Given the description of an element on the screen output the (x, y) to click on. 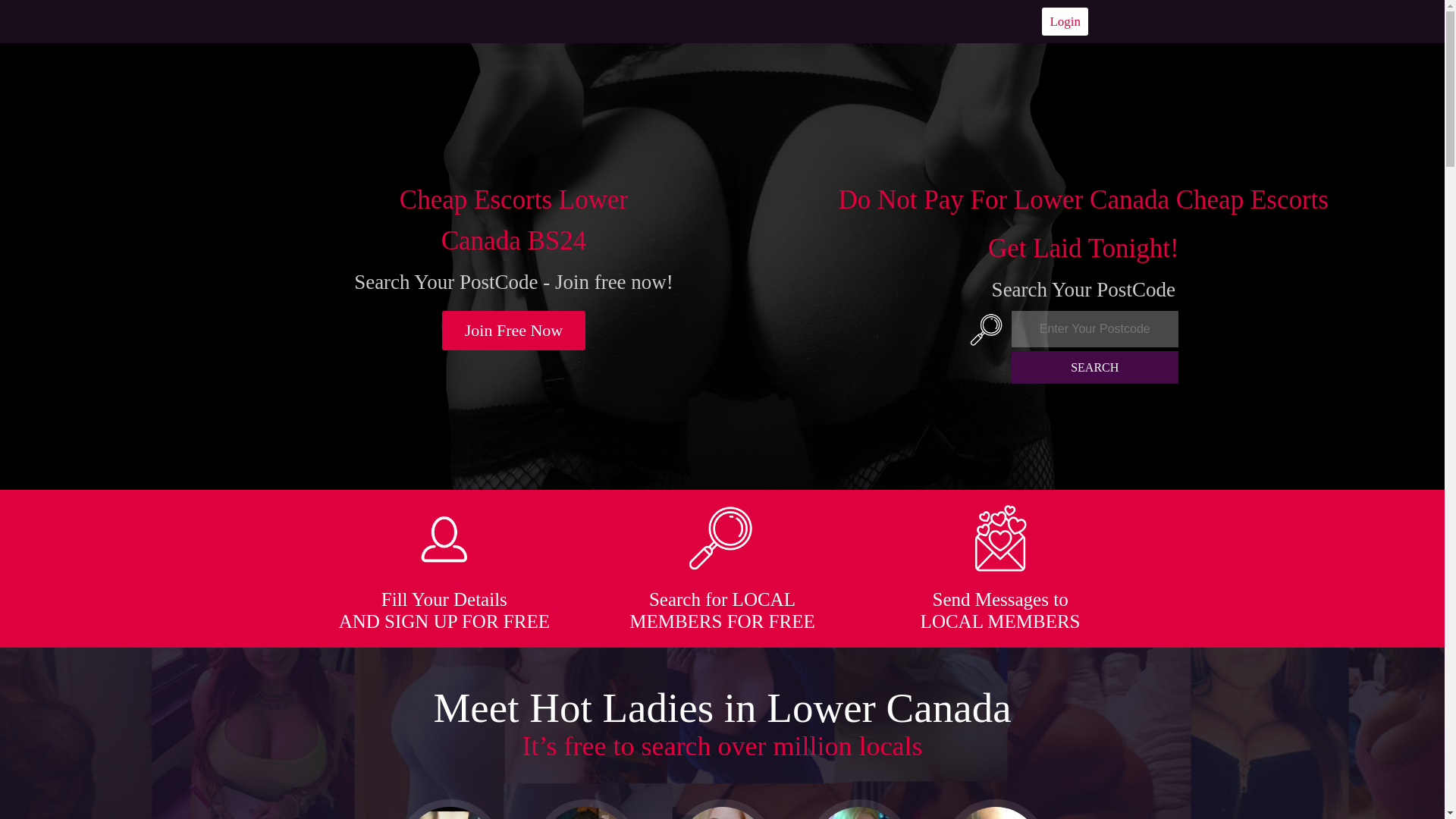
Login (1064, 21)
Login (1064, 21)
Join Free Now (514, 330)
Join (514, 330)
SEARCH (1094, 367)
